Given the description of an element on the screen output the (x, y) to click on. 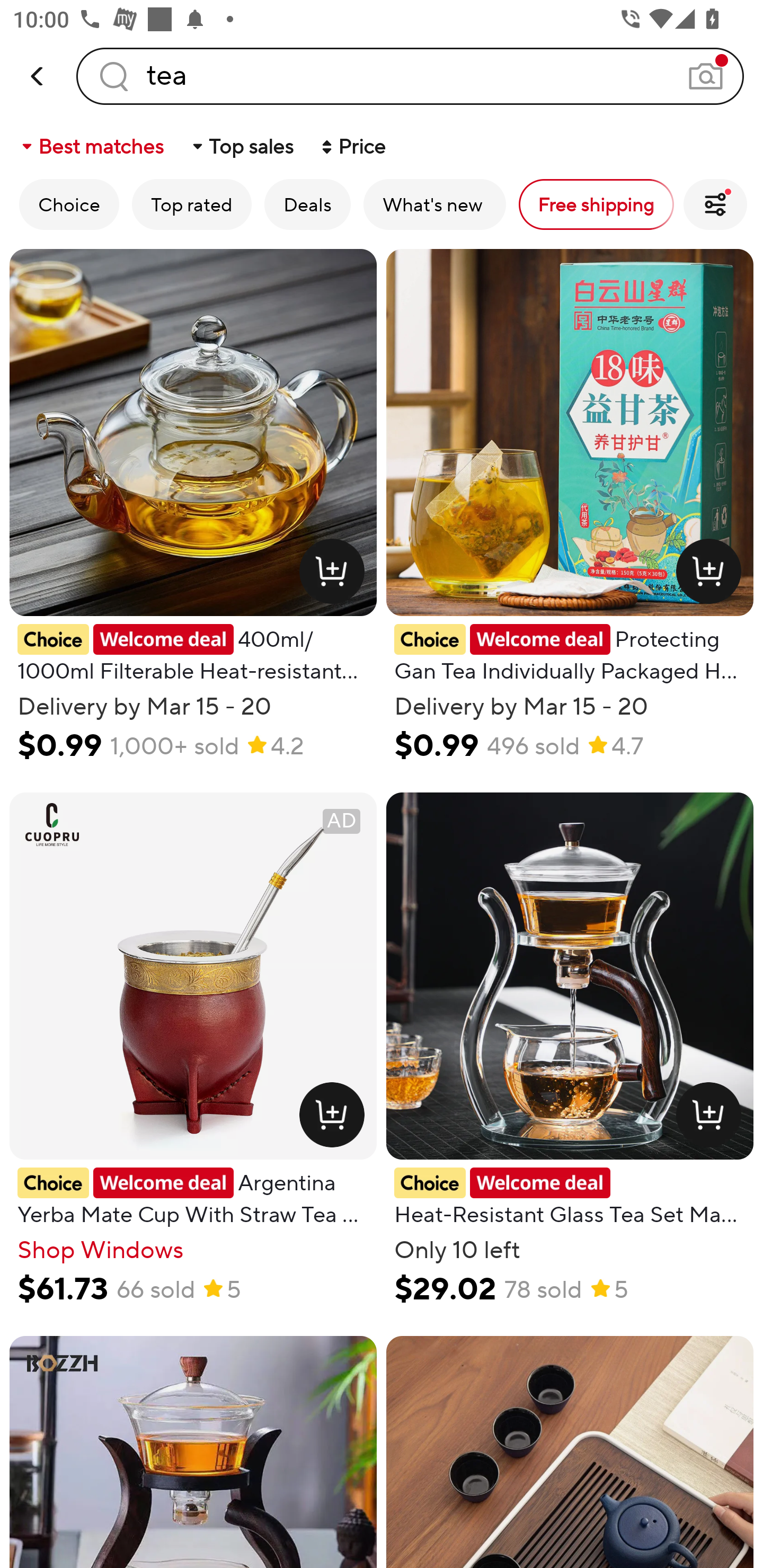
back (38, 75)
tea Search query (409, 76)
tea Search query (409, 76)
Best matches (91, 146)
Top sales (241, 146)
Price (352, 146)
Choice (69, 204)
Top rated (191, 204)
Deals (307, 204)
What's new  (434, 204)
Free shipping (595, 204)
